Given the description of an element on the screen output the (x, y) to click on. 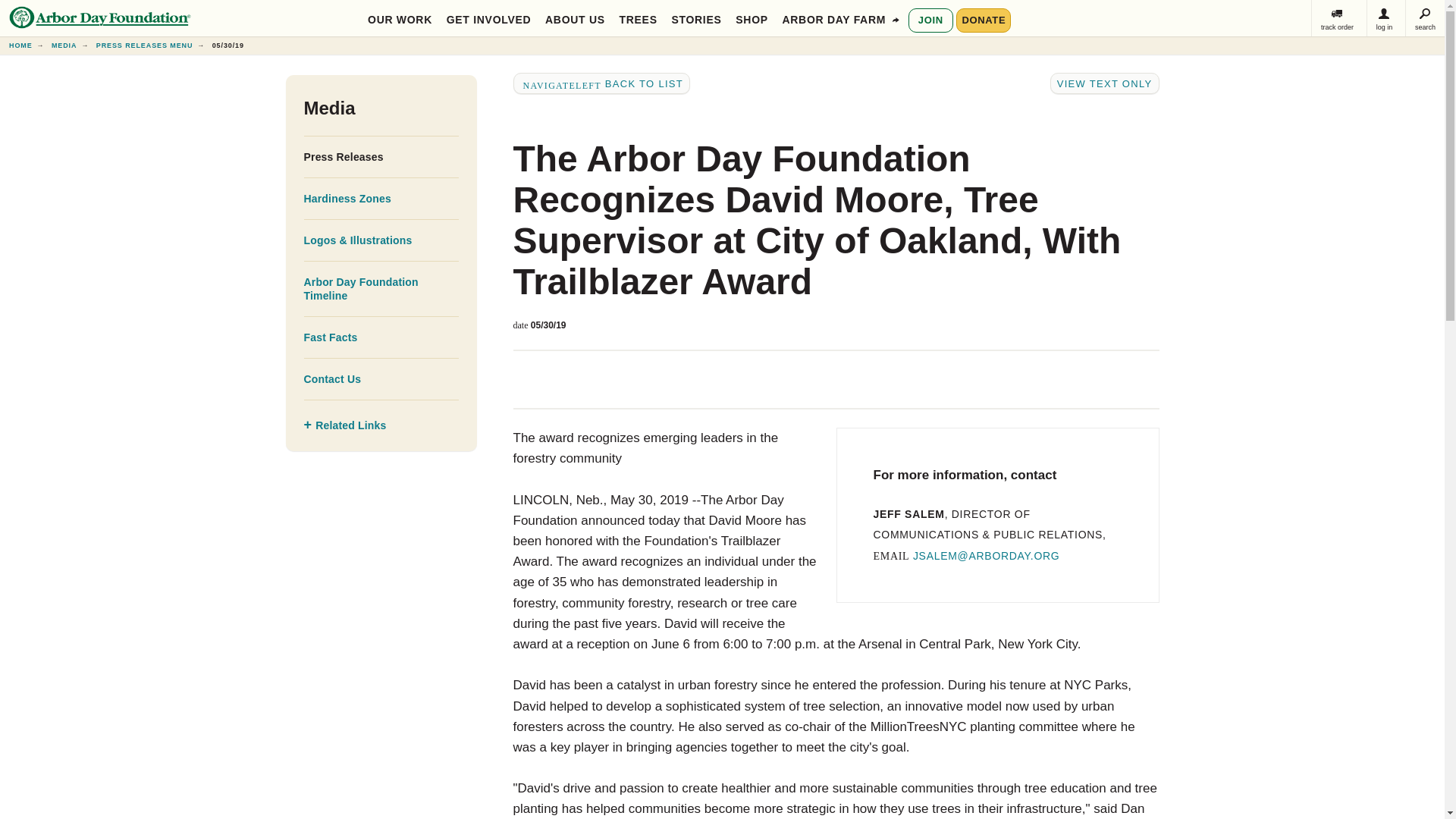
GET INVOLVED (489, 18)
Order Status (1336, 18)
arborday.org (20, 45)
OUR WORK (400, 18)
ABOUT US (575, 18)
Sign In (1384, 18)
TREES (638, 18)
